Given the description of an element on the screen output the (x, y) to click on. 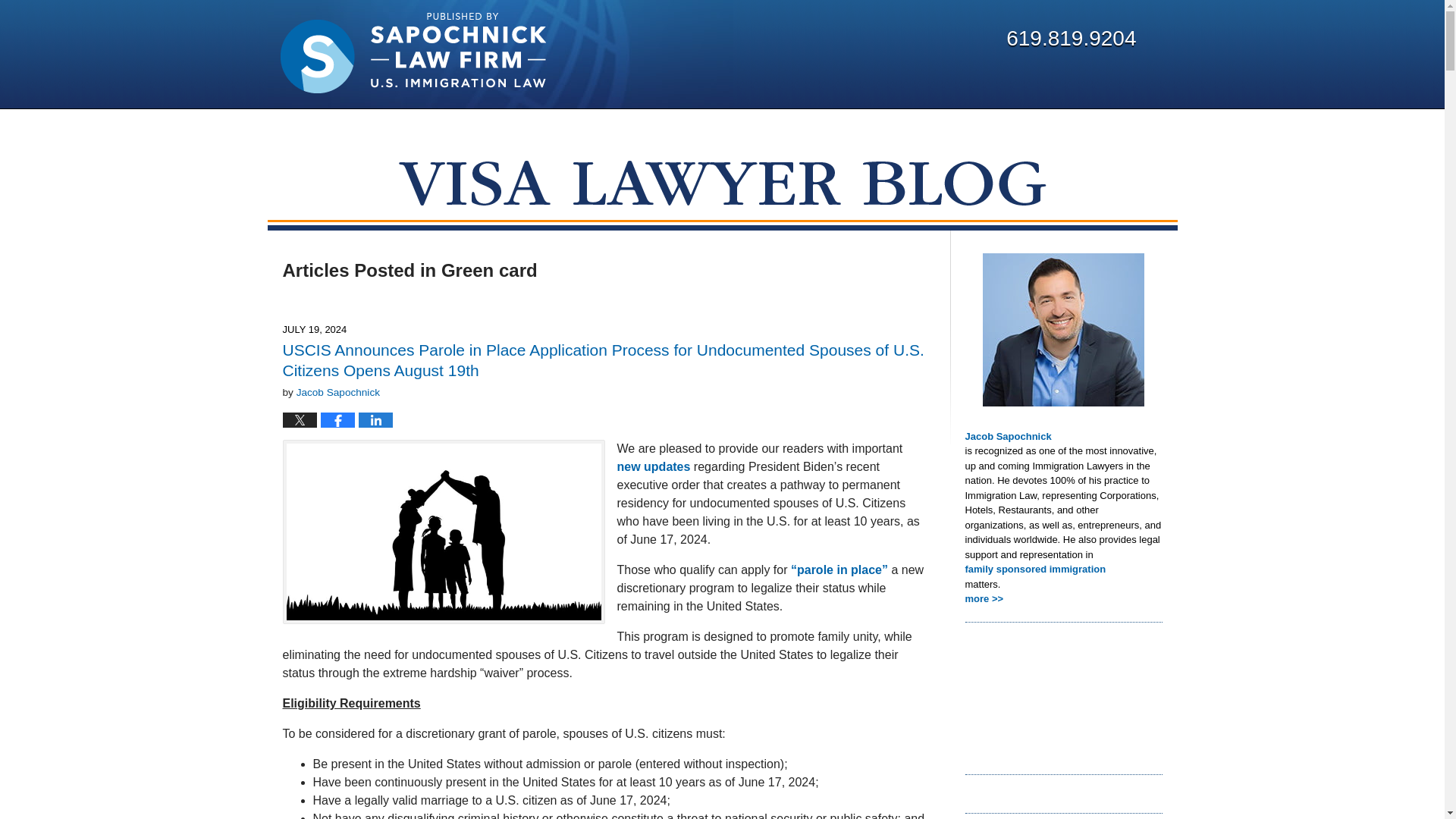
new updates (653, 466)
Jacob Sapochnick (338, 392)
619.819.9204 (1070, 38)
Visa Lawyer Blog (413, 53)
